Given the description of an element on the screen output the (x, y) to click on. 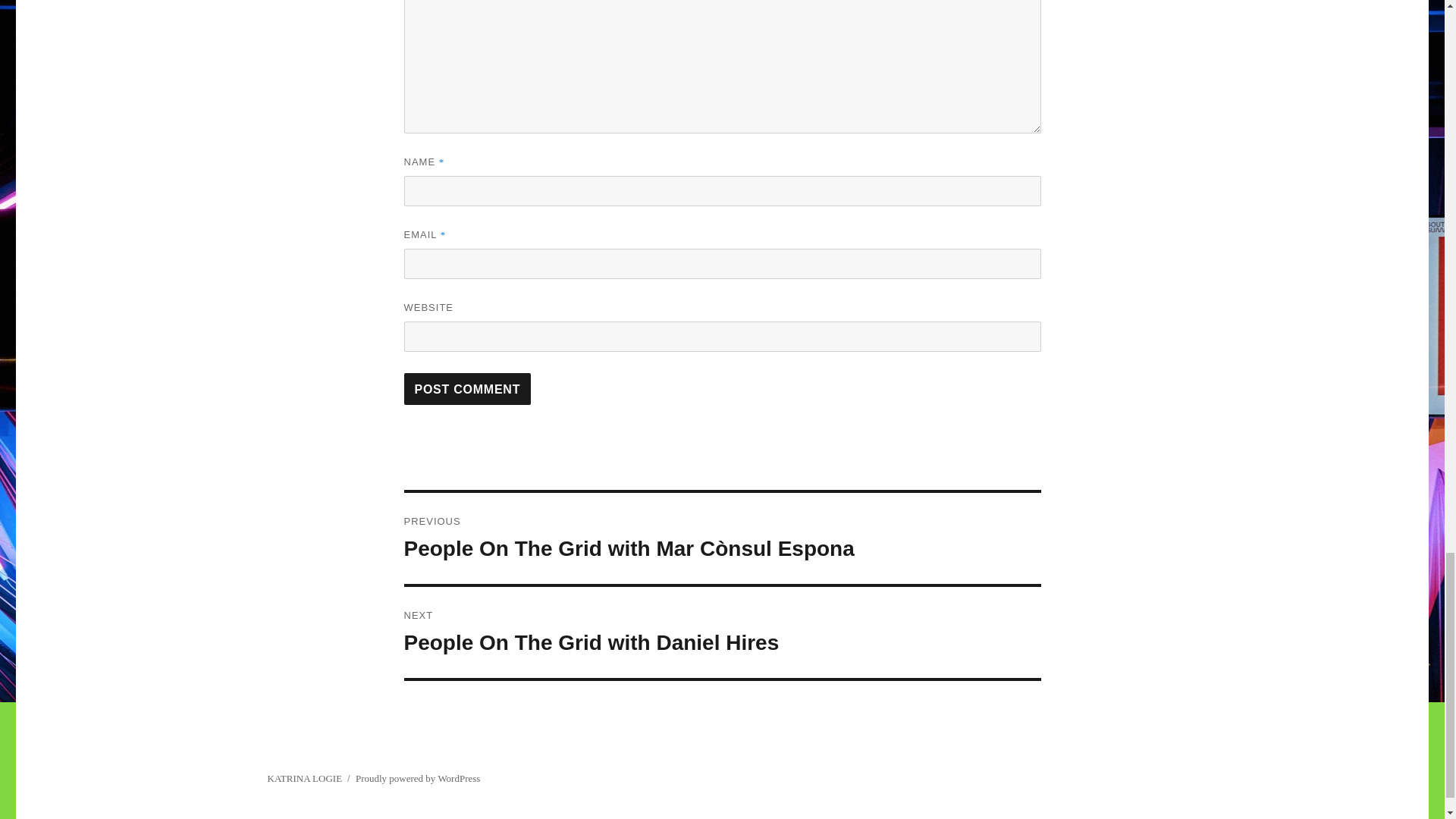
Post Comment (722, 632)
Post Comment (467, 388)
